Given the description of an element on the screen output the (x, y) to click on. 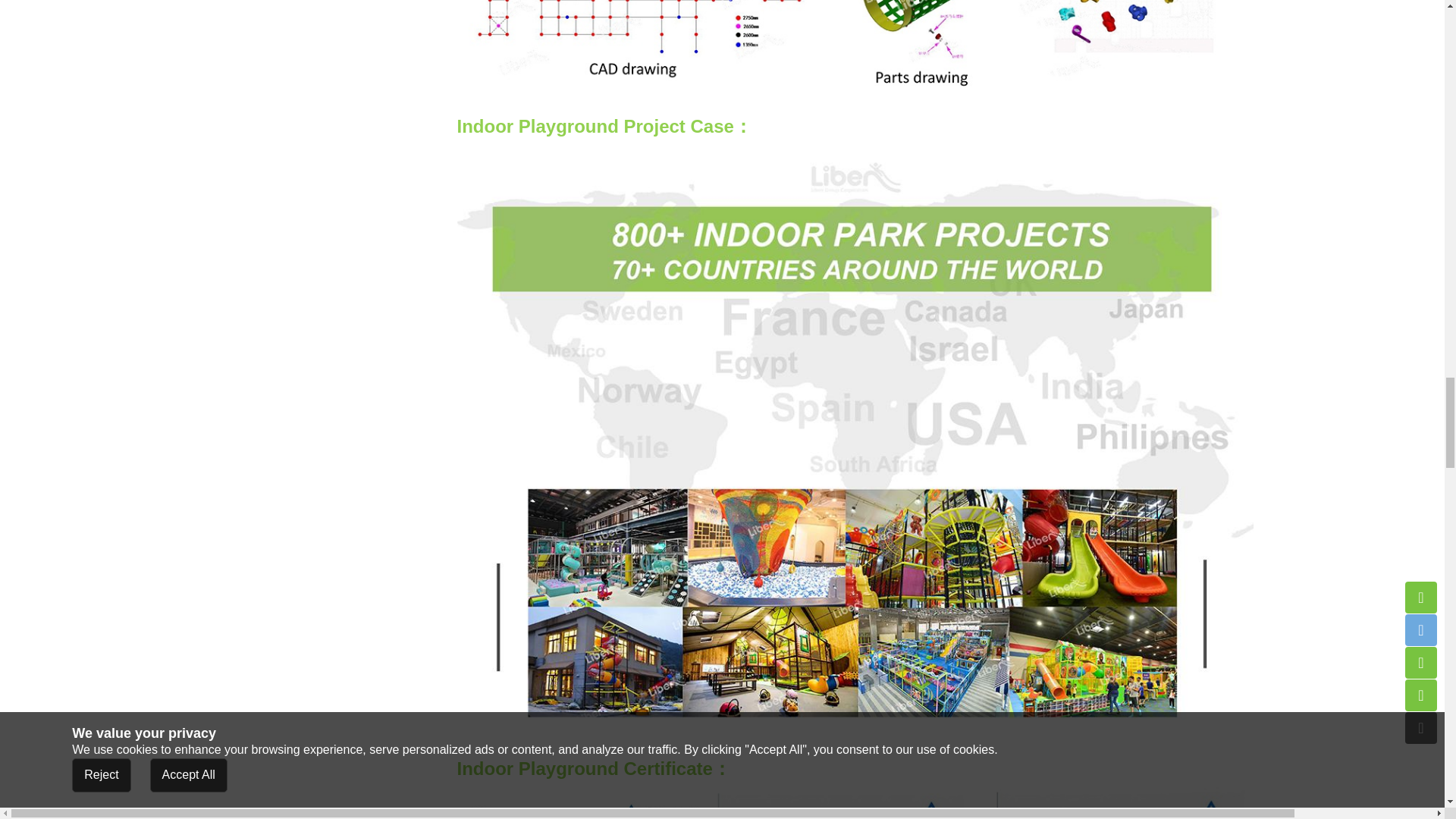
Indoor Playground Installation.jpg (854, 49)
